Given the description of an element on the screen output the (x, y) to click on. 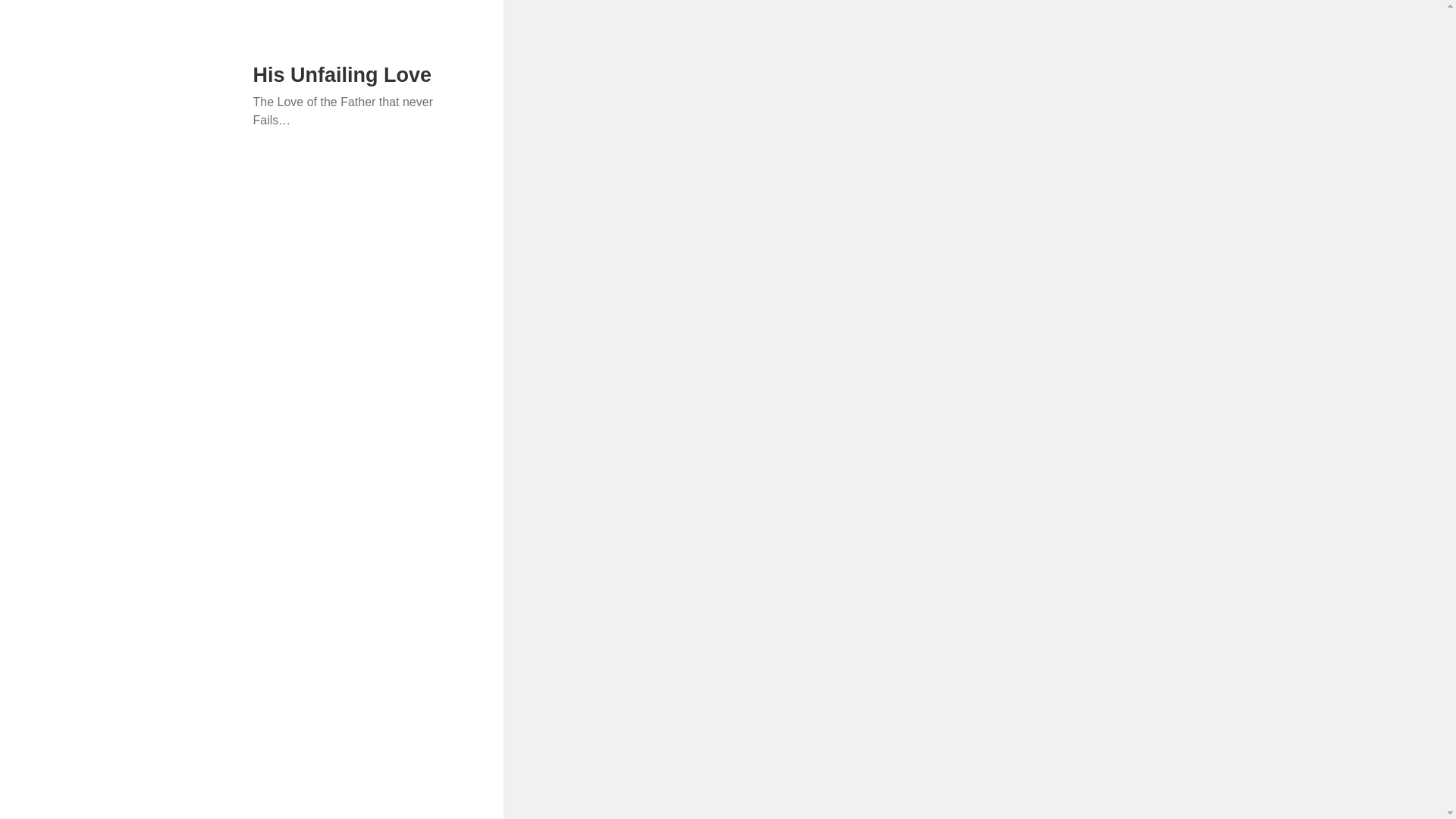
His Unfailing Love (342, 74)
